Given the description of an element on the screen output the (x, y) to click on. 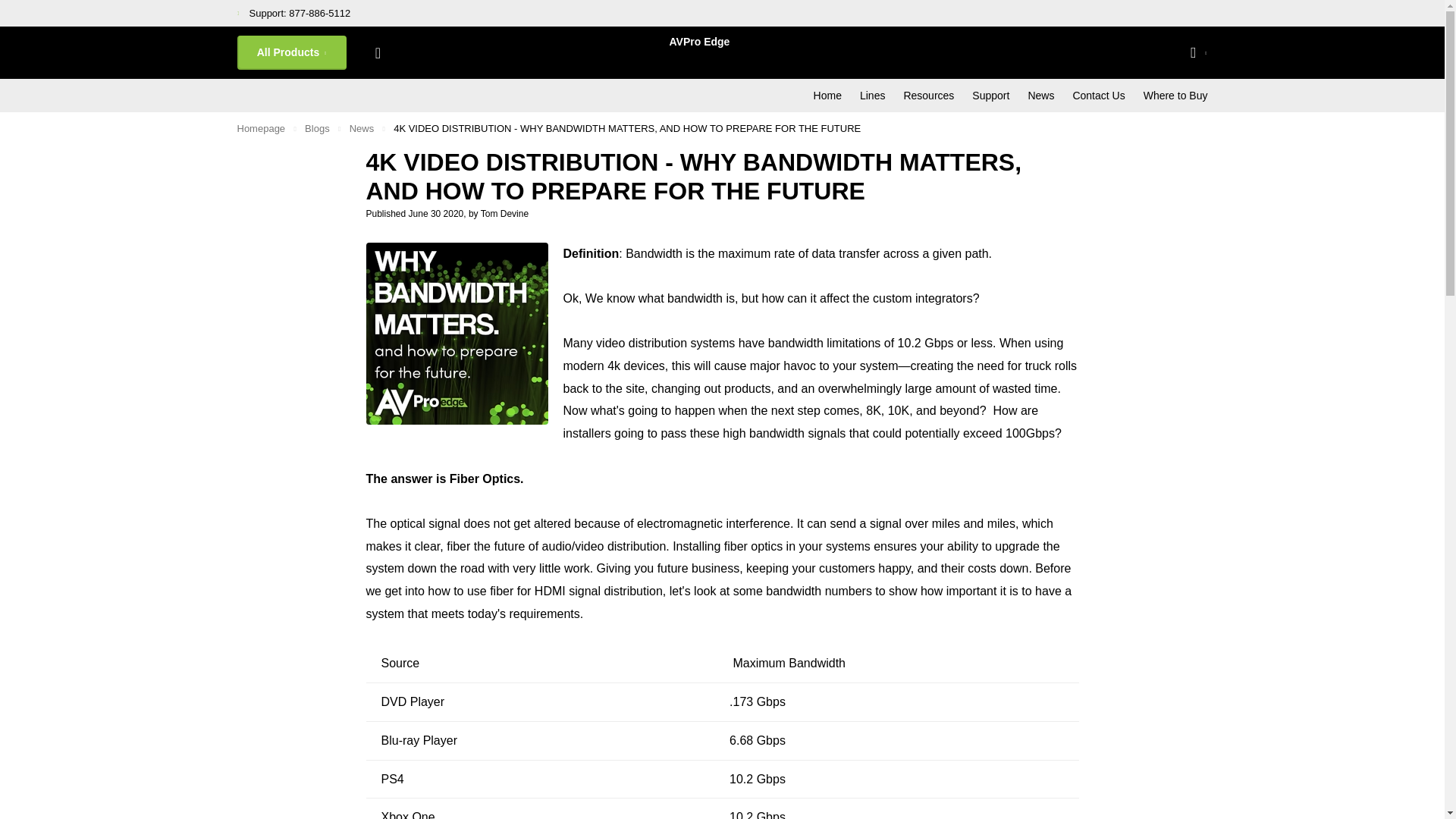
Home (260, 128)
All Products (290, 52)
